Given the description of an element on the screen output the (x, y) to click on. 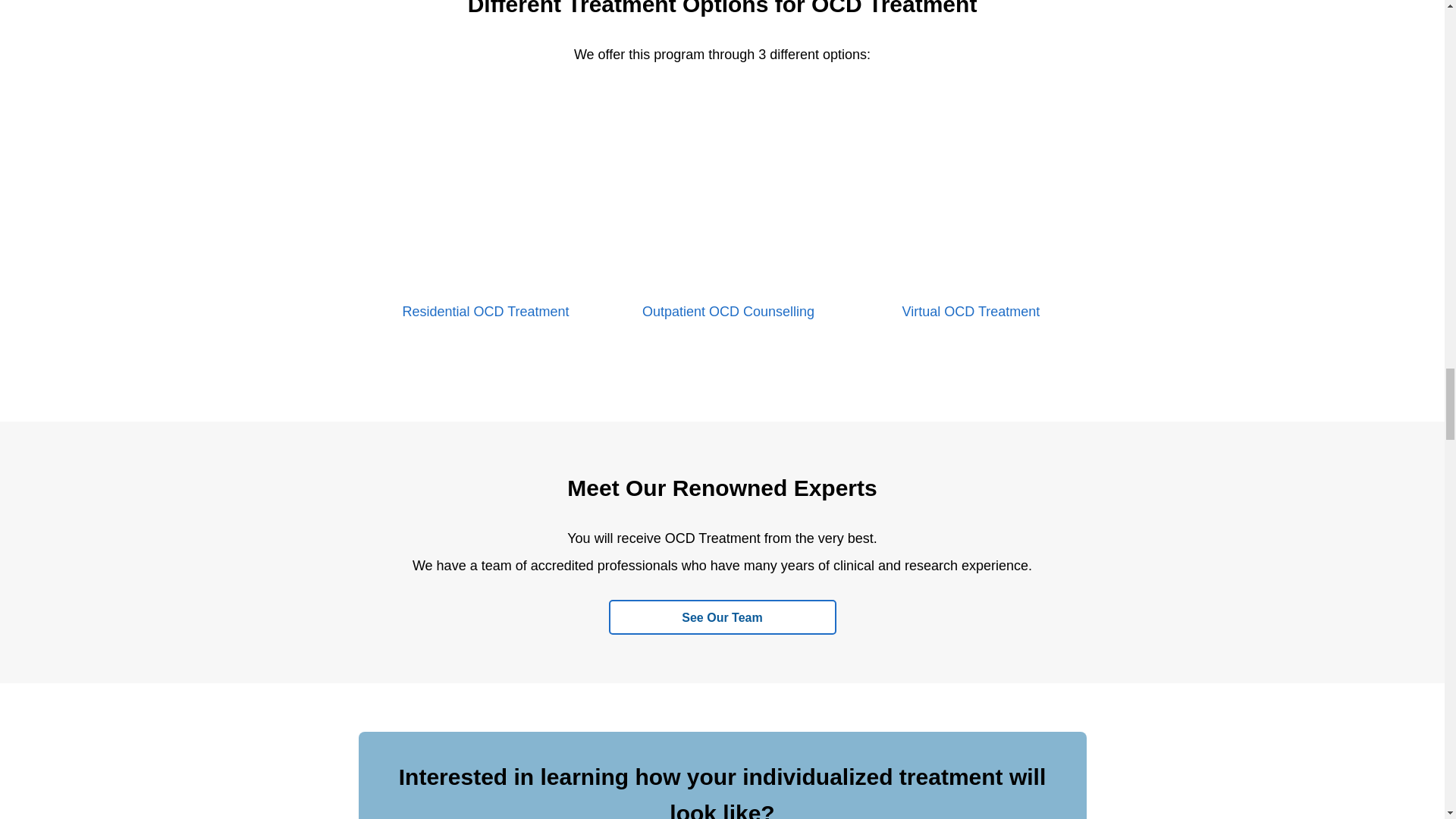
This is a link to Virtual Treatment page (971, 311)
This is a link to Outpatient Treatment page (727, 311)
This is a link to Inpatient Treatment page (485, 311)
Residential Treatment (484, 191)
Outpatient Counselling (727, 191)
This is a link to Our Team Page (721, 616)
Online Treatment (970, 191)
